Given the description of an element on the screen output the (x, y) to click on. 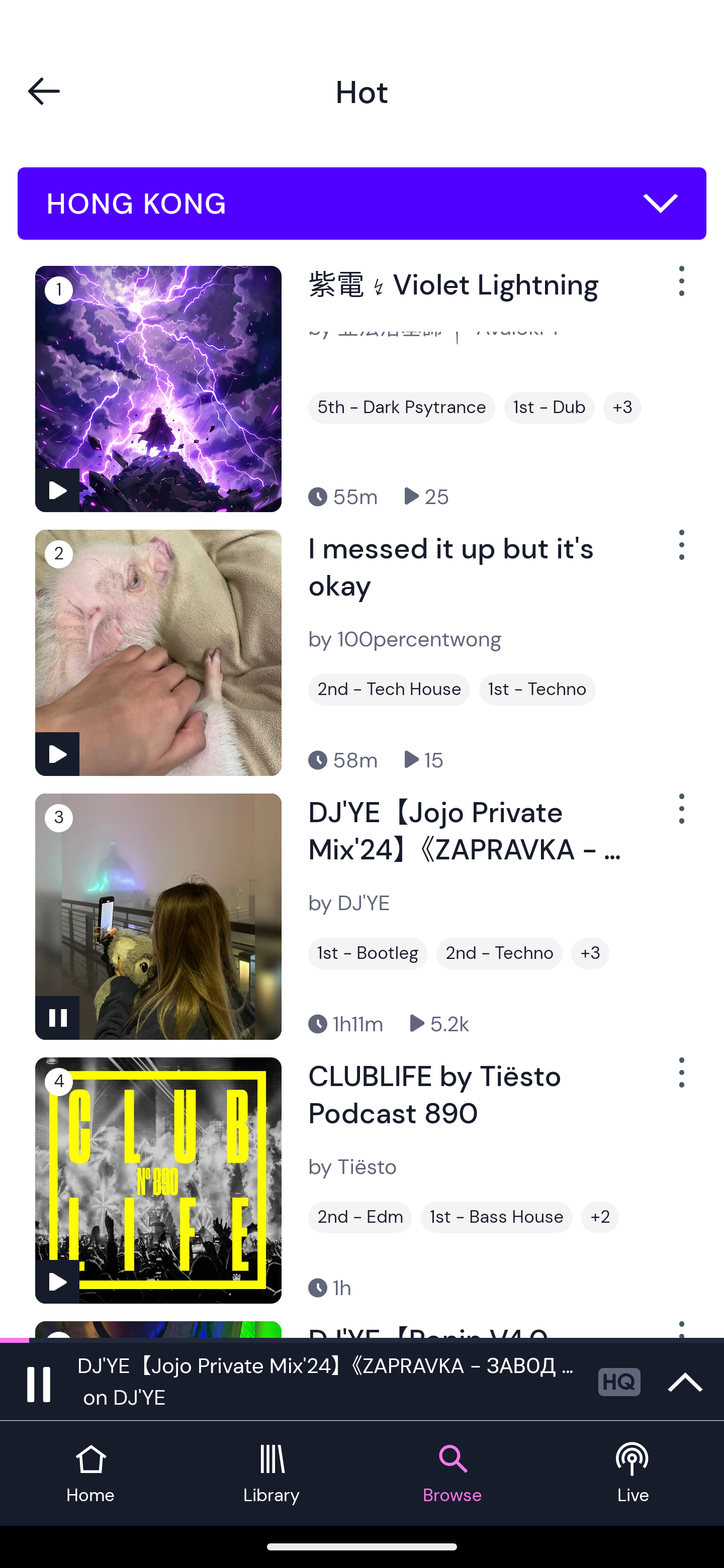
HONG KONG (361, 203)
Show Options Menu Button (679, 289)
5th - Dark Psytrance (401, 407)
1st - Dub (549, 407)
Show Options Menu Button (679, 552)
2nd - Tech House (388, 689)
1st - Techno (537, 689)
Show Options Menu Button (679, 815)
1st - Bootleg (367, 953)
2nd - Techno (499, 953)
Show Options Menu Button (679, 1079)
2nd - Edm (359, 1217)
1st - Bass House (496, 1217)
Home tab Home (90, 1473)
Library tab Library (271, 1473)
Browse tab Browse (452, 1473)
Live tab Live (633, 1473)
